Given the description of an element on the screen output the (x, y) to click on. 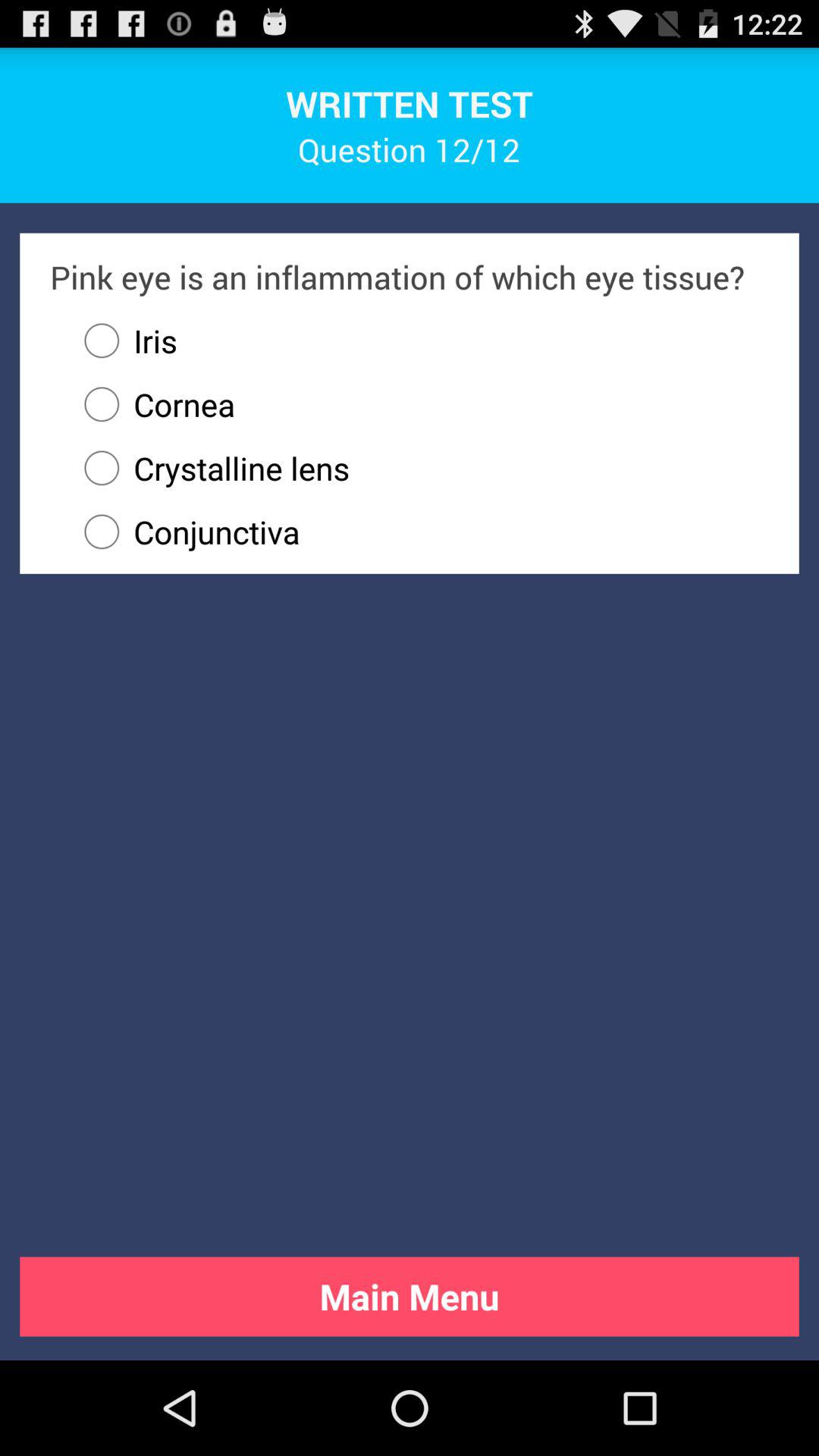
scroll to cornea item (151, 404)
